Given the description of an element on the screen output the (x, y) to click on. 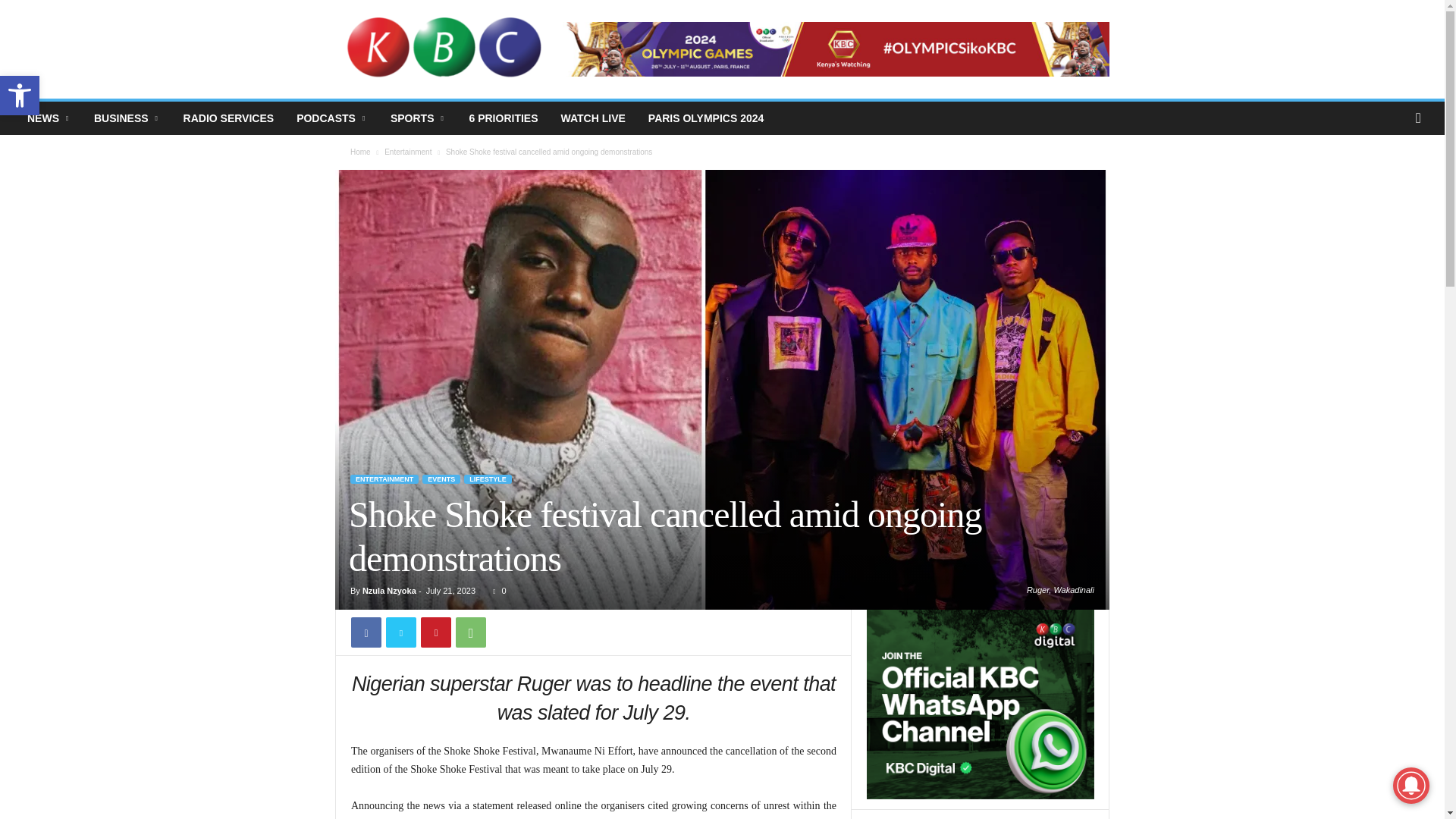
Accessibility Tools (19, 95)
Accessibility Tools (19, 95)
